Given the description of an element on the screen output the (x, y) to click on. 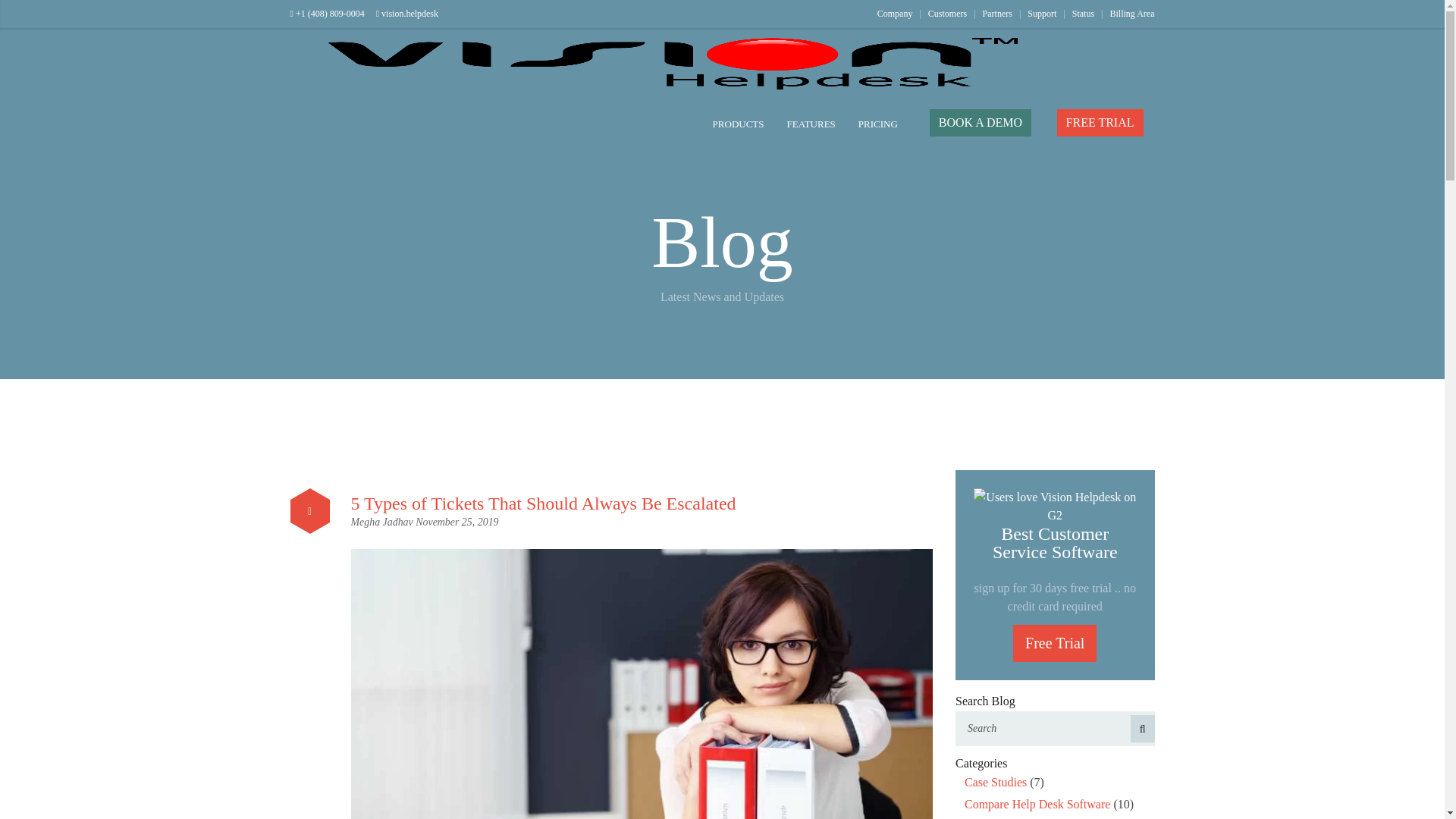
BOOK A DEMO (980, 122)
Billing Area (1131, 13)
Customers (947, 13)
vision.helpdesk (406, 13)
FEATURES (811, 123)
Megha Jadhav (382, 521)
Users love Vision Helpdesk on G2 (1055, 504)
5 Types of Tickets That Should Always Be Escalated (542, 503)
Support (1042, 13)
PRICING (877, 123)
Partners (996, 13)
Status (1082, 13)
FREE TRIAL (1099, 122)
Company (894, 13)
PRODUCTS (738, 123)
